Given the description of an element on the screen output the (x, y) to click on. 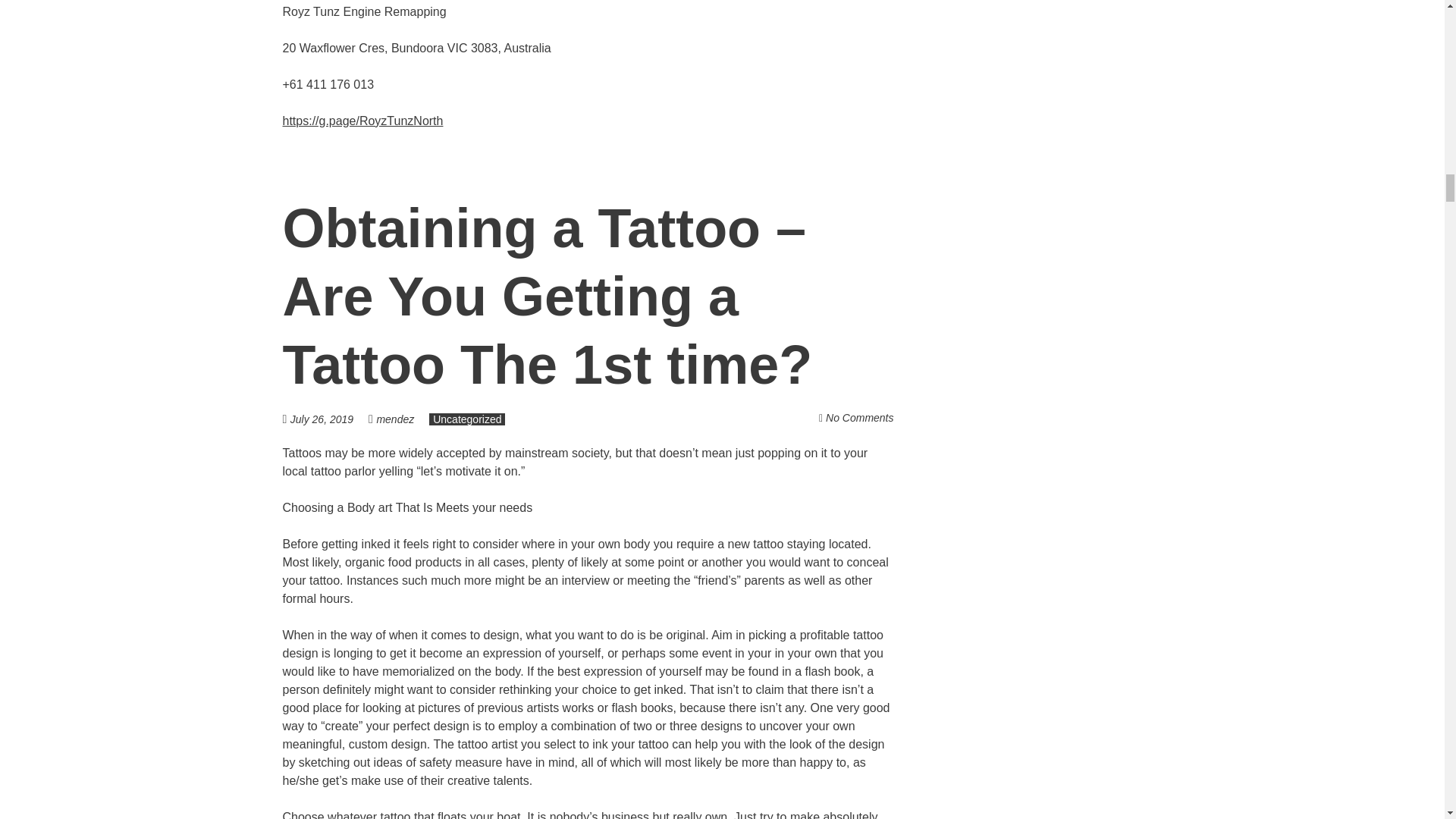
July 26, 2019 (328, 418)
mendez (394, 419)
Uncategorized (467, 419)
No Comments (859, 417)
